Given the description of an element on the screen output the (x, y) to click on. 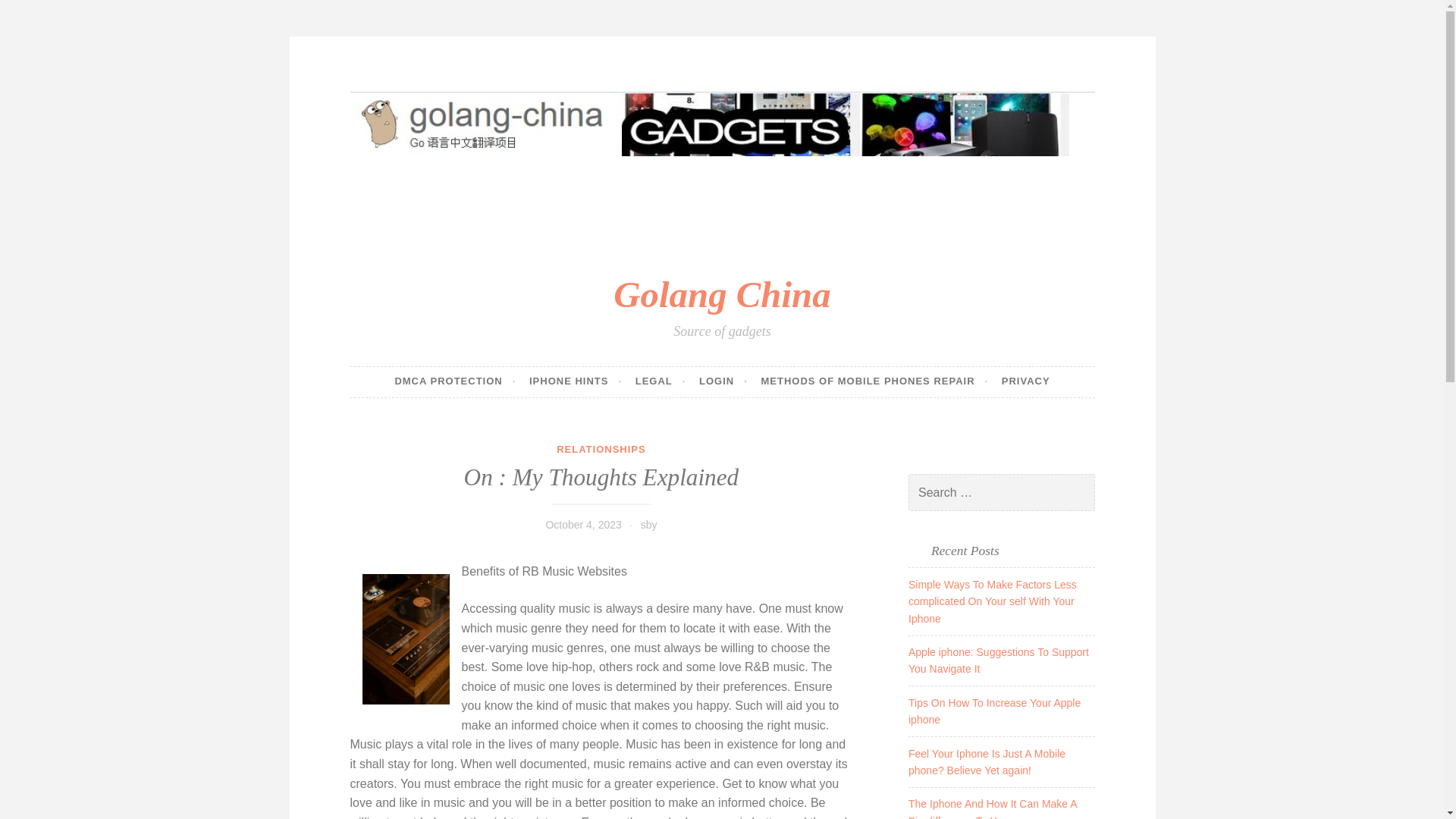
IPHONE HINTS (575, 381)
Tips On How To Increase Your Apple iphone (994, 710)
METHODS OF MOBILE PHONES REPAIR (874, 381)
Apple iphone: Suggestions To Support You Navigate It (998, 660)
Feel Your Iphone Is Just A Mobile phone? Believe Yet again! (986, 761)
RELATIONSHIPS (601, 449)
The Iphone And How It Can Make A Big difference To You (992, 808)
LEGAL (659, 381)
sby (649, 524)
